Given the description of an element on the screen output the (x, y) to click on. 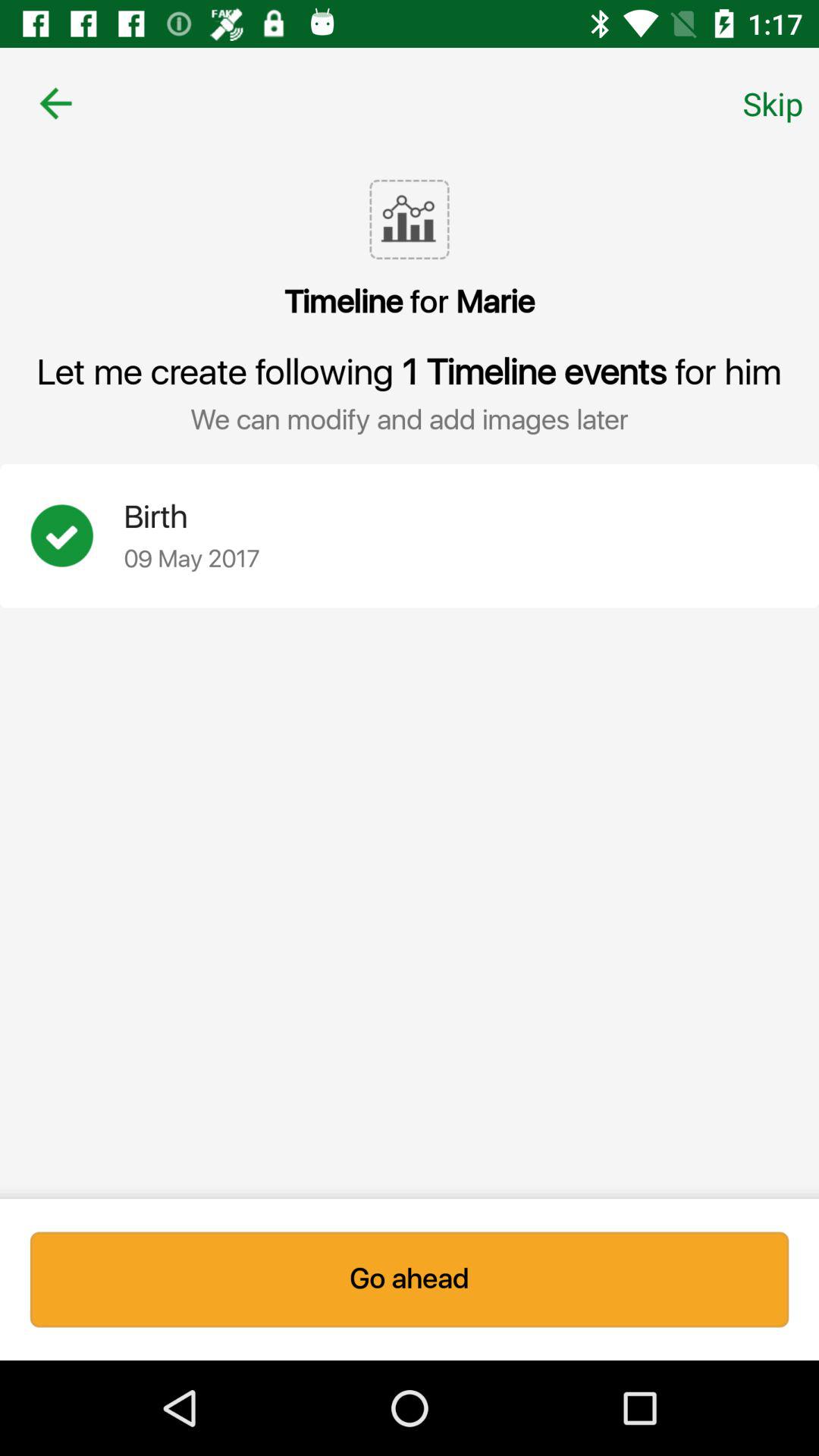
tap icon to the left of birth (76, 535)
